Given the description of an element on the screen output the (x, y) to click on. 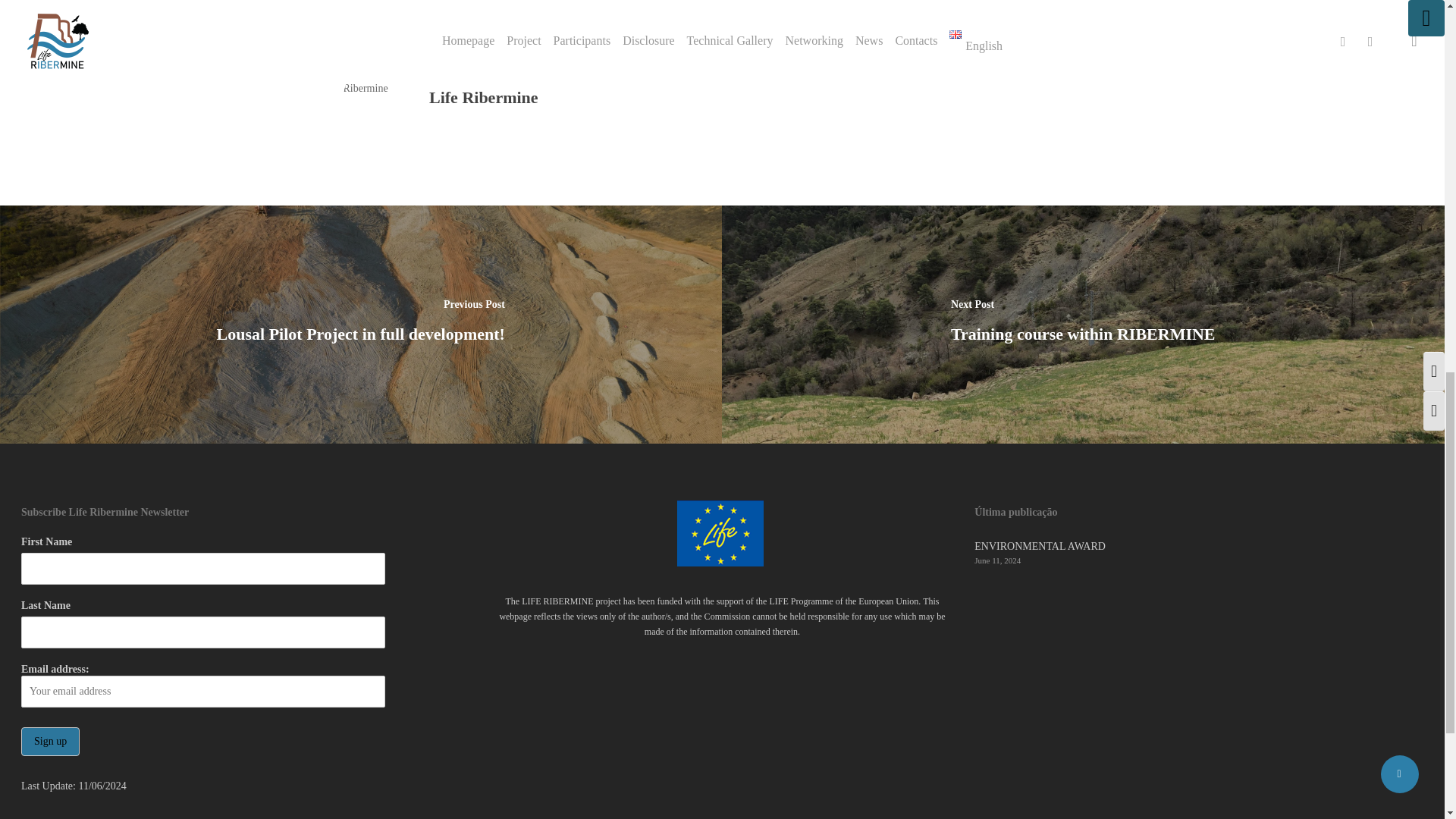
Sign up (50, 741)
